Given the description of an element on the screen output the (x, y) to click on. 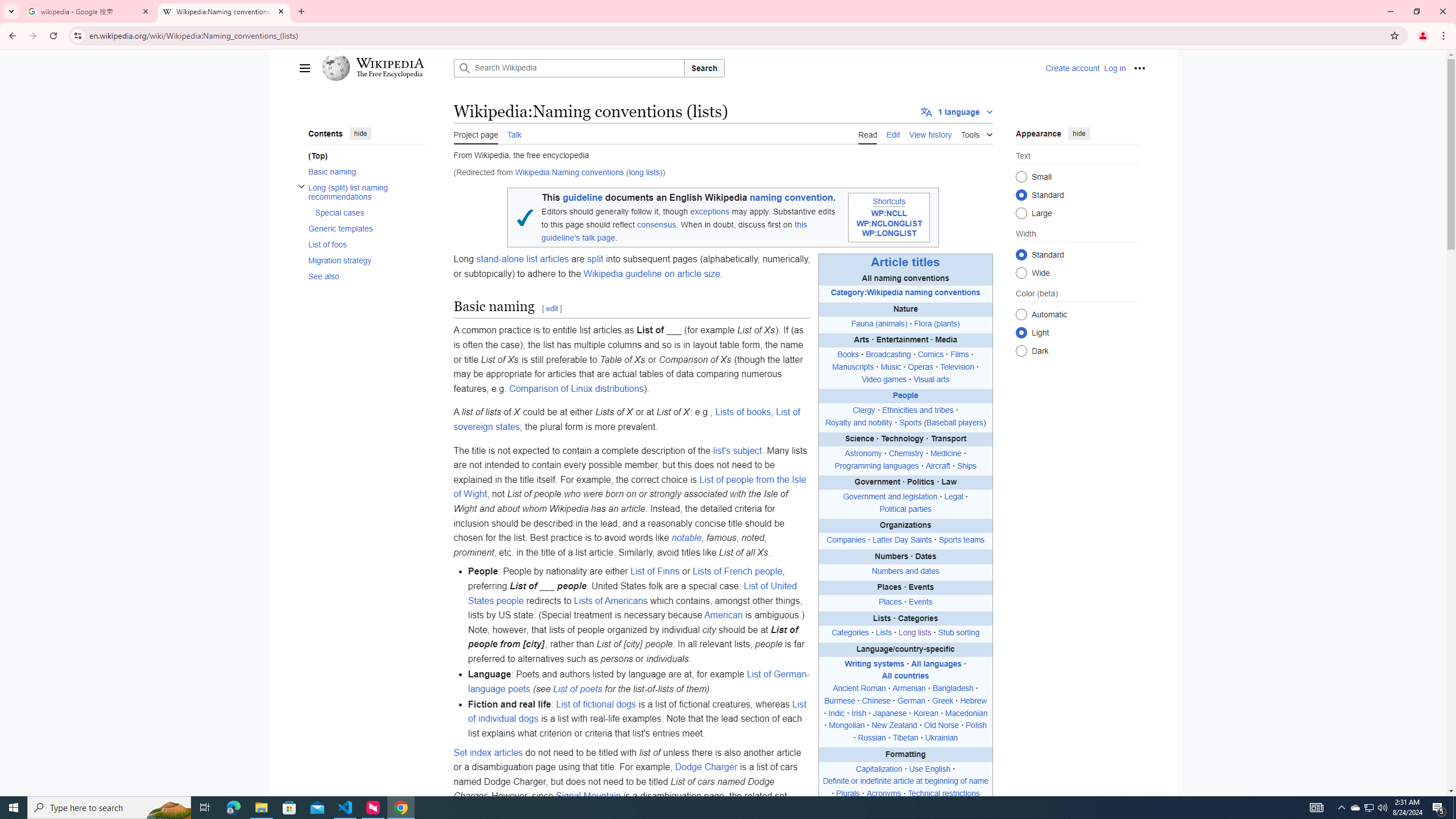
List of German-language poets (638, 681)
Tools (976, 132)
Blue tick (523, 217)
Irish (858, 712)
Light (1020, 332)
WP:LONGLIST (888, 233)
Dodge Charger (706, 767)
Set index articles (487, 751)
Long lists (914, 632)
Ukrainian (941, 737)
Categories (850, 632)
Lists (883, 632)
AutomationID: toc-Basic_naming (365, 170)
Sports teams (961, 539)
All languages (936, 663)
